Given the description of an element on the screen output the (x, y) to click on. 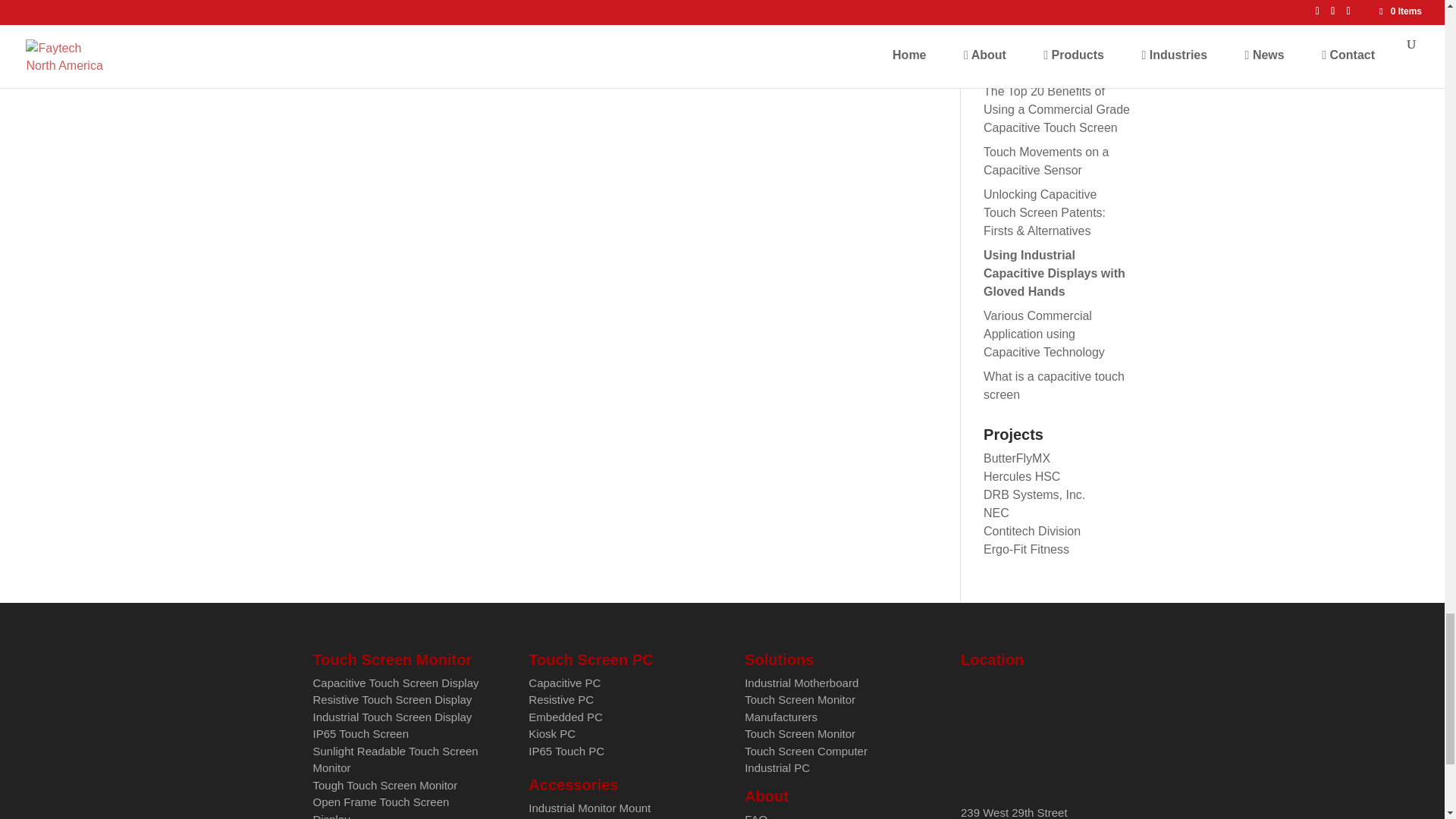
industrial (392, 716)
high brightness (360, 733)
rugged (380, 807)
resistive pcs (561, 698)
rugged (385, 784)
sunlight (395, 759)
capacitive pcs (563, 682)
capacitive (396, 682)
